Given the description of an element on the screen output the (x, y) to click on. 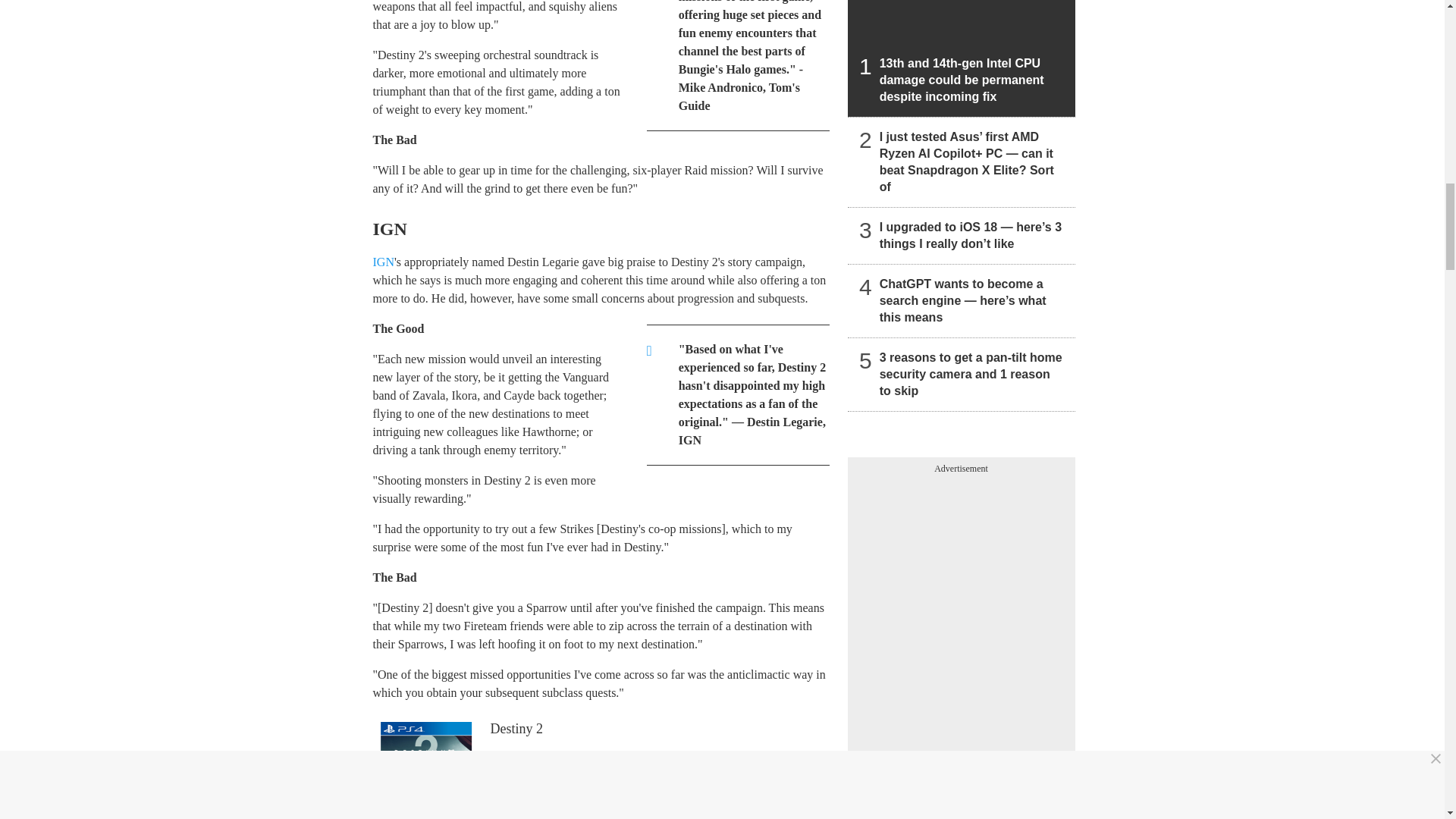
Image (425, 770)
